Given the description of an element on the screen output the (x, y) to click on. 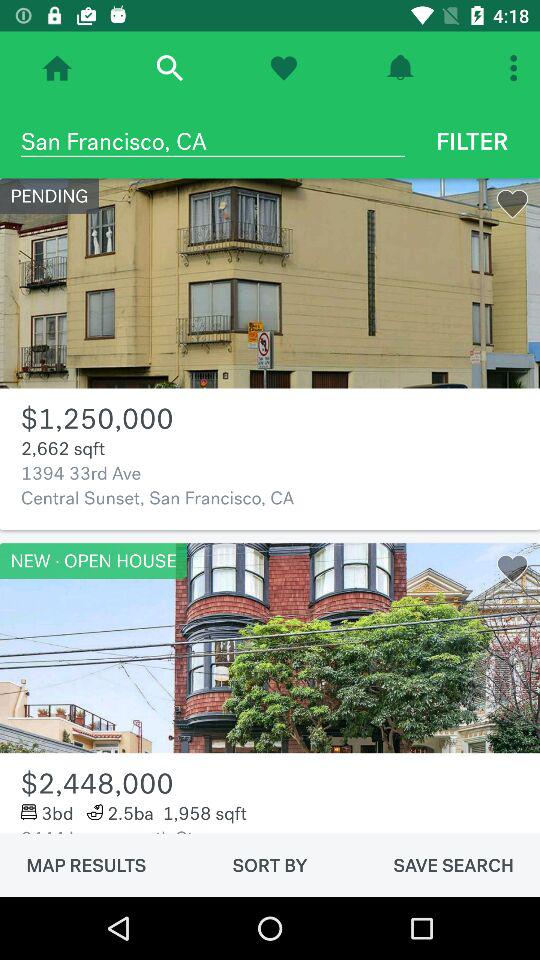
select the icon below the 2444 leavenworth st item (85, 865)
